Given the description of an element on the screen output the (x, y) to click on. 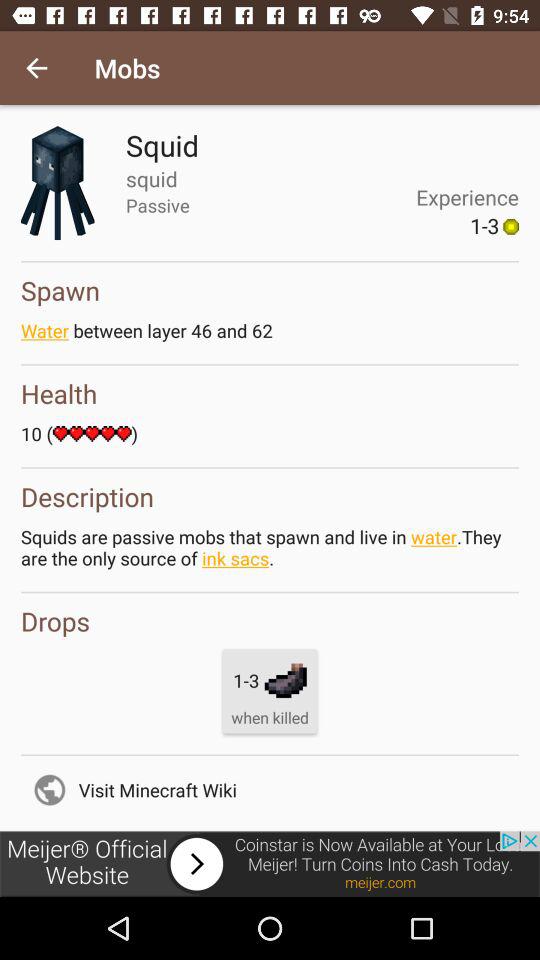
click on the image next to squid (58, 182)
